Given the description of an element on the screen output the (x, y) to click on. 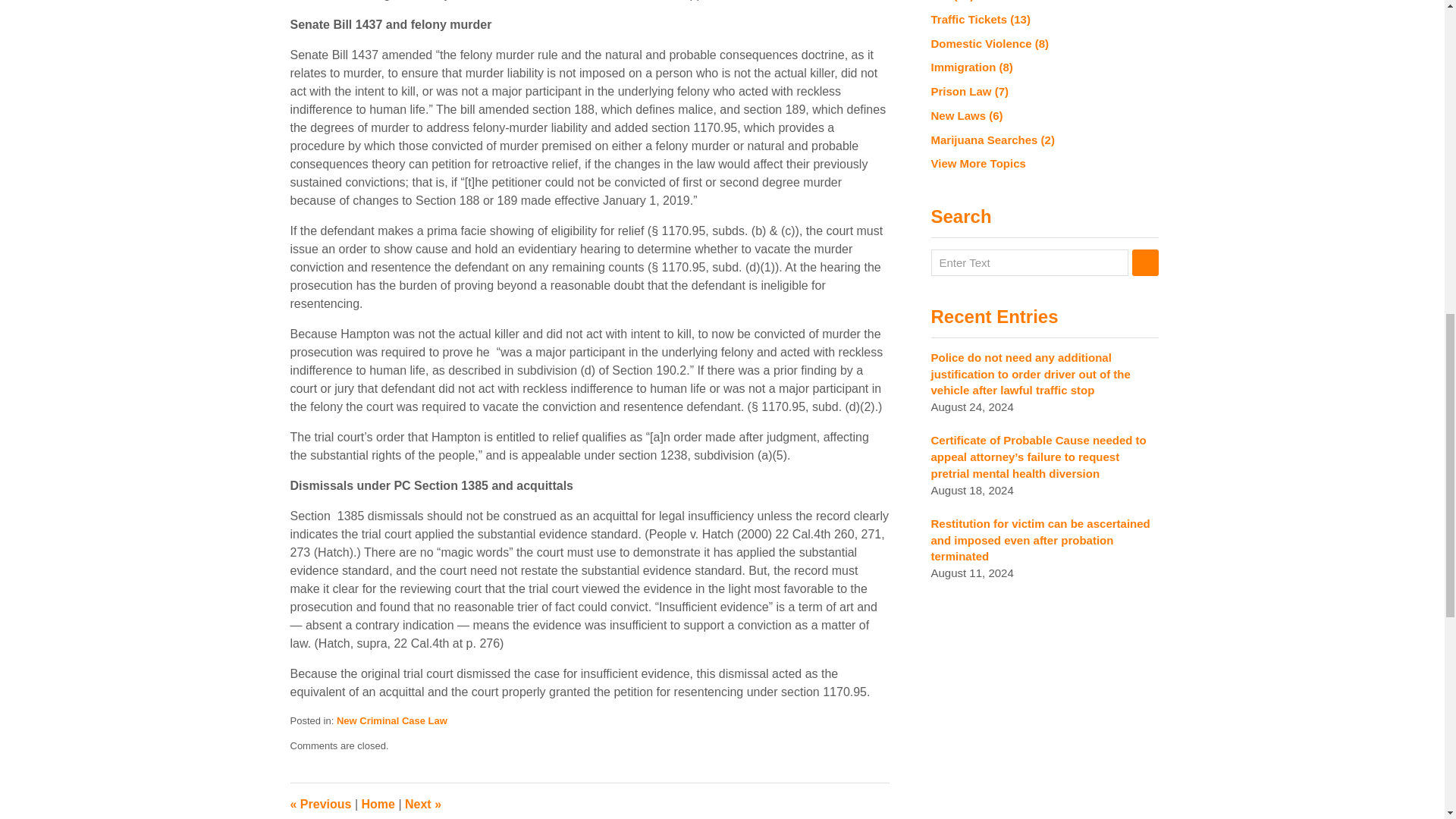
Home (377, 803)
SEARCH (1144, 262)
View all posts in New Criminal Case Law (391, 720)
View More Topics (1044, 163)
New Criminal Case Law (391, 720)
Mistake of fact can negate an element of a crime (319, 803)
